Given the description of an element on the screen output the (x, y) to click on. 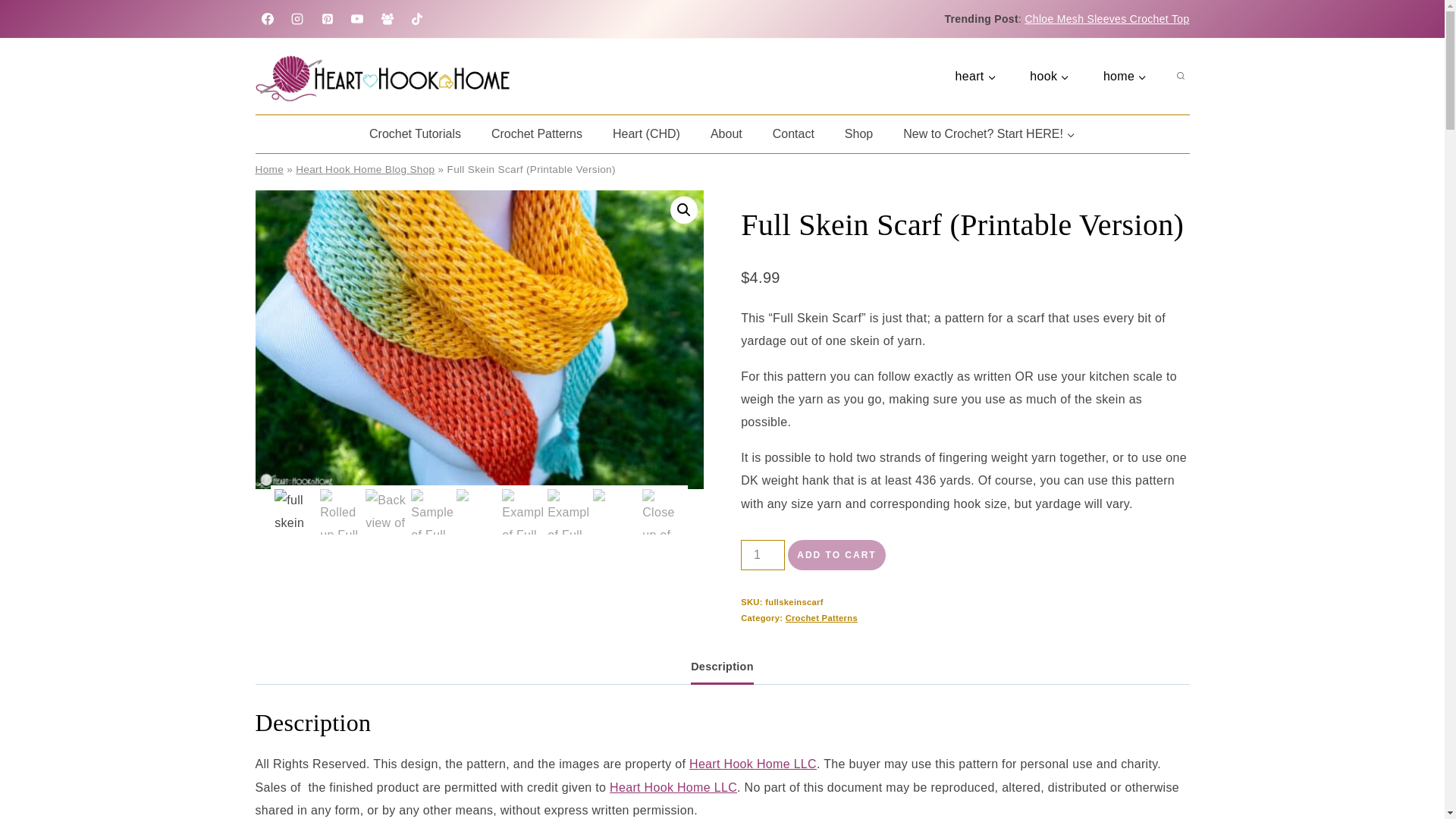
heart (975, 76)
hook (1049, 76)
home (1124, 76)
About (726, 134)
full-skein-scarf-free-tunisian-crochet-pattern-4 (927, 339)
1 (762, 554)
Chloe Mesh Sleeves Crochet Top (1107, 19)
full-skein-scarf-free-tunisian-crochet-pattern-7 (478, 339)
Crochet Patterns (536, 134)
Crochet Tutorials (414, 134)
